Given the description of an element on the screen output the (x, y) to click on. 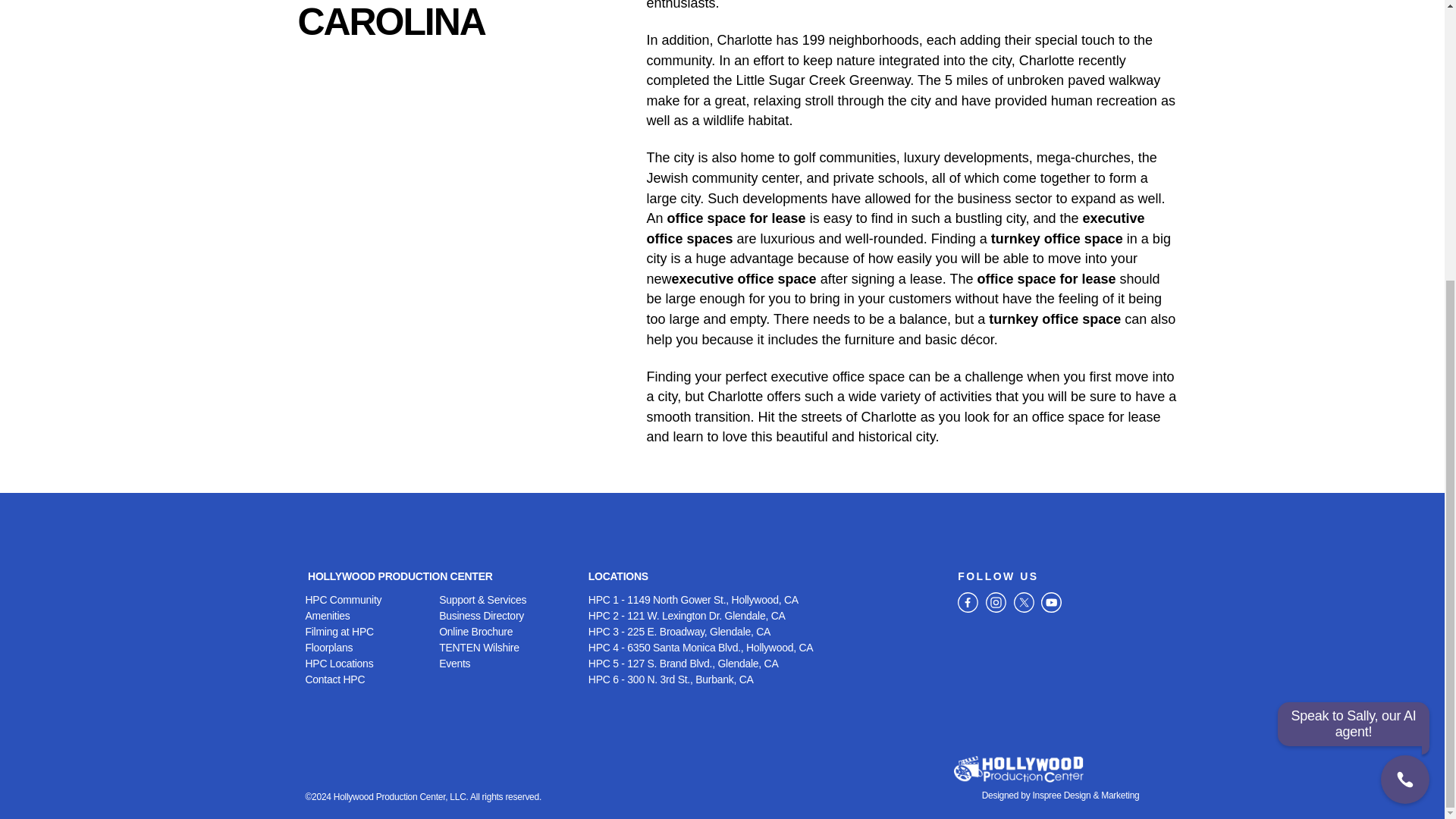
Contact HPC (371, 679)
Floorplans (371, 647)
HPC Community (371, 600)
HPC 1 - 1149 North Gower St., Hollywood, CA (765, 600)
TENTEN Wilshire (506, 647)
HPC 3 - 225 E. Broadway, Glendale, CA (765, 631)
HPC 4 - 6350 Santa Monica Blvd., Hollywood, CA (765, 647)
Online Brochure (506, 631)
Amenities (371, 616)
HPC Locations (371, 663)
Filming at HPC (371, 631)
Inspree (1046, 795)
Events (506, 663)
HPC 2 - 121 W. Lexington Dr. Glendale, CA (765, 616)
HPC 6 - 300 N. 3rd St., Burbank, CA (765, 679)
